Given the description of an element on the screen output the (x, y) to click on. 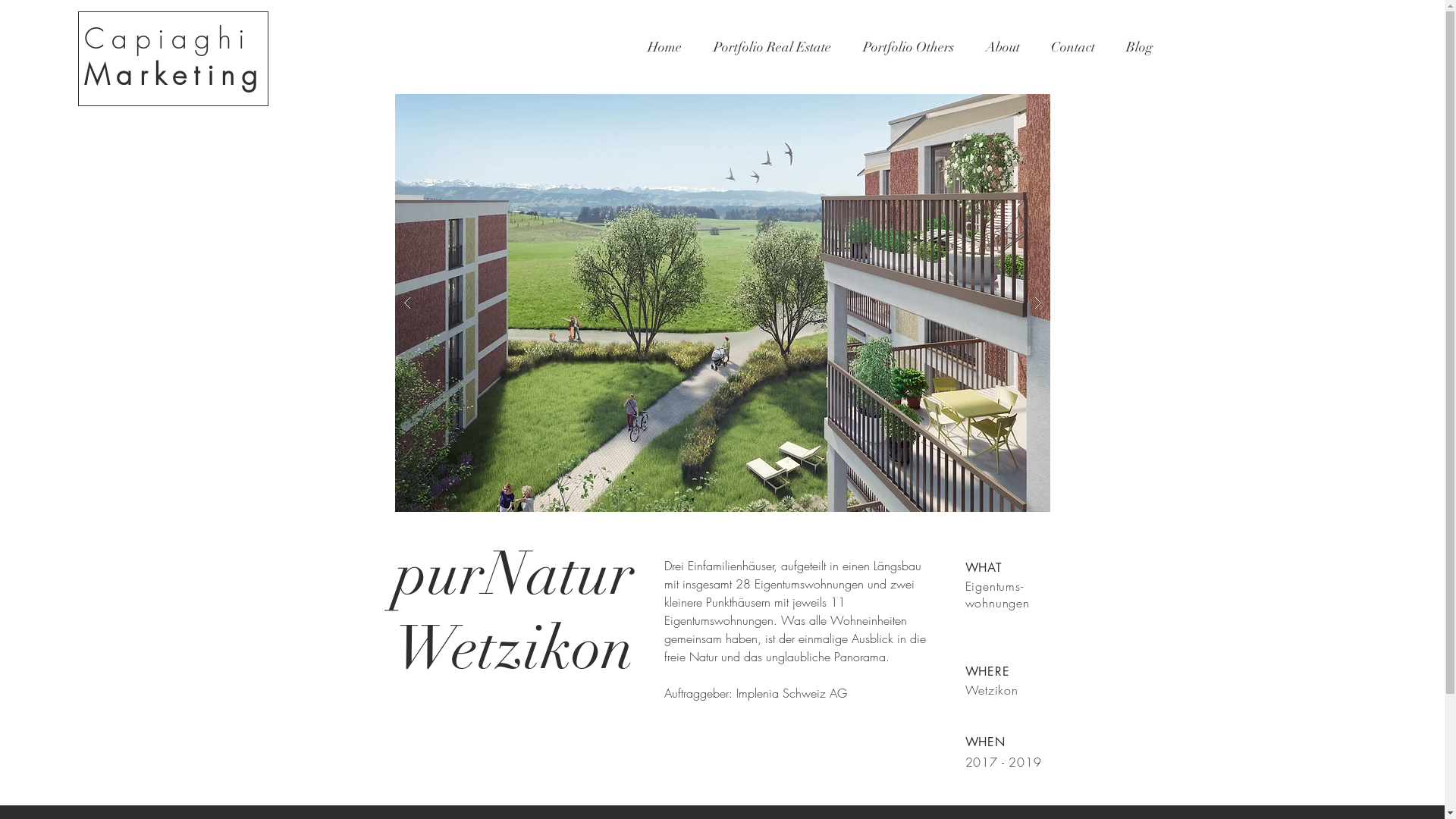
Contact Element type: text (1072, 46)
About Element type: text (1002, 46)
Home Element type: text (663, 46)
Portfolio Others Element type: text (907, 46)
Portfolio Real Estate Element type: text (772, 46)
Blog Element type: text (1138, 46)
CapiaghiMarketing Element type: text (173, 56)
